Given the description of an element on the screen output the (x, y) to click on. 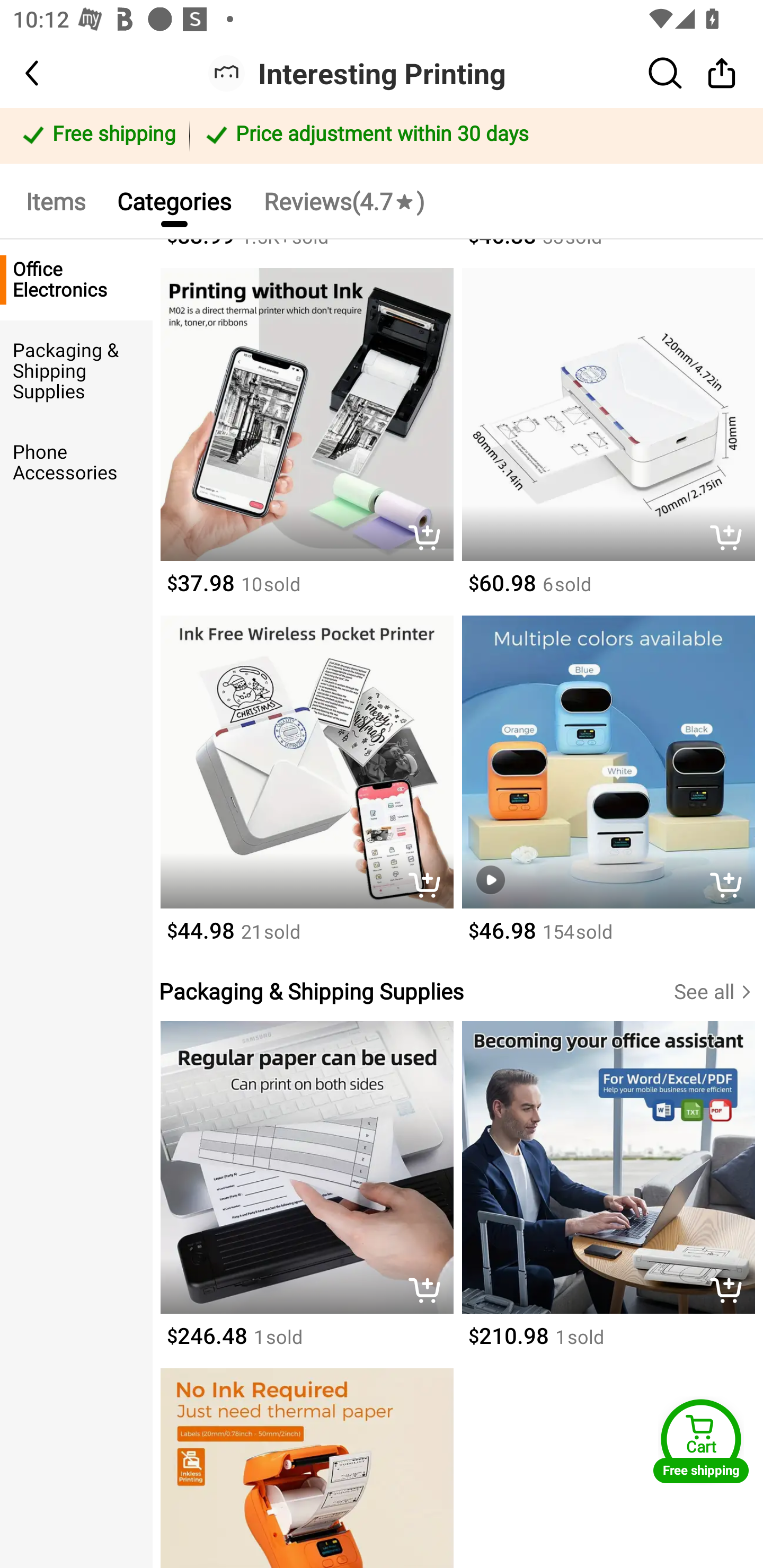
back (47, 72)
share (721, 72)
Free shipping (97, 135)
Price adjustment within 30 days (472, 135)
Items (55, 200)
Categories (174, 200)
Reviews(4.7 ) (343, 200)
Office Electronics (76, 279)
delete $37.98 10￼sold (306, 442)
delete $60.98 6￼sold (608, 442)
Packaging & Shipping Supplies (76, 370)
Phone Accessories (76, 462)
delete (429, 539)
delete (731, 539)
delete $44.98 21￼sold (306, 789)
delete $46.98 154￼sold (608, 789)
delete (429, 886)
delete (731, 886)
See all (718, 992)
delete $246.48 1￼sold (306, 1194)
delete $210.98 1￼sold (608, 1194)
delete (429, 1291)
delete (731, 1291)
Cart Free shipping Cart (701, 1440)
